Given the description of an element on the screen output the (x, y) to click on. 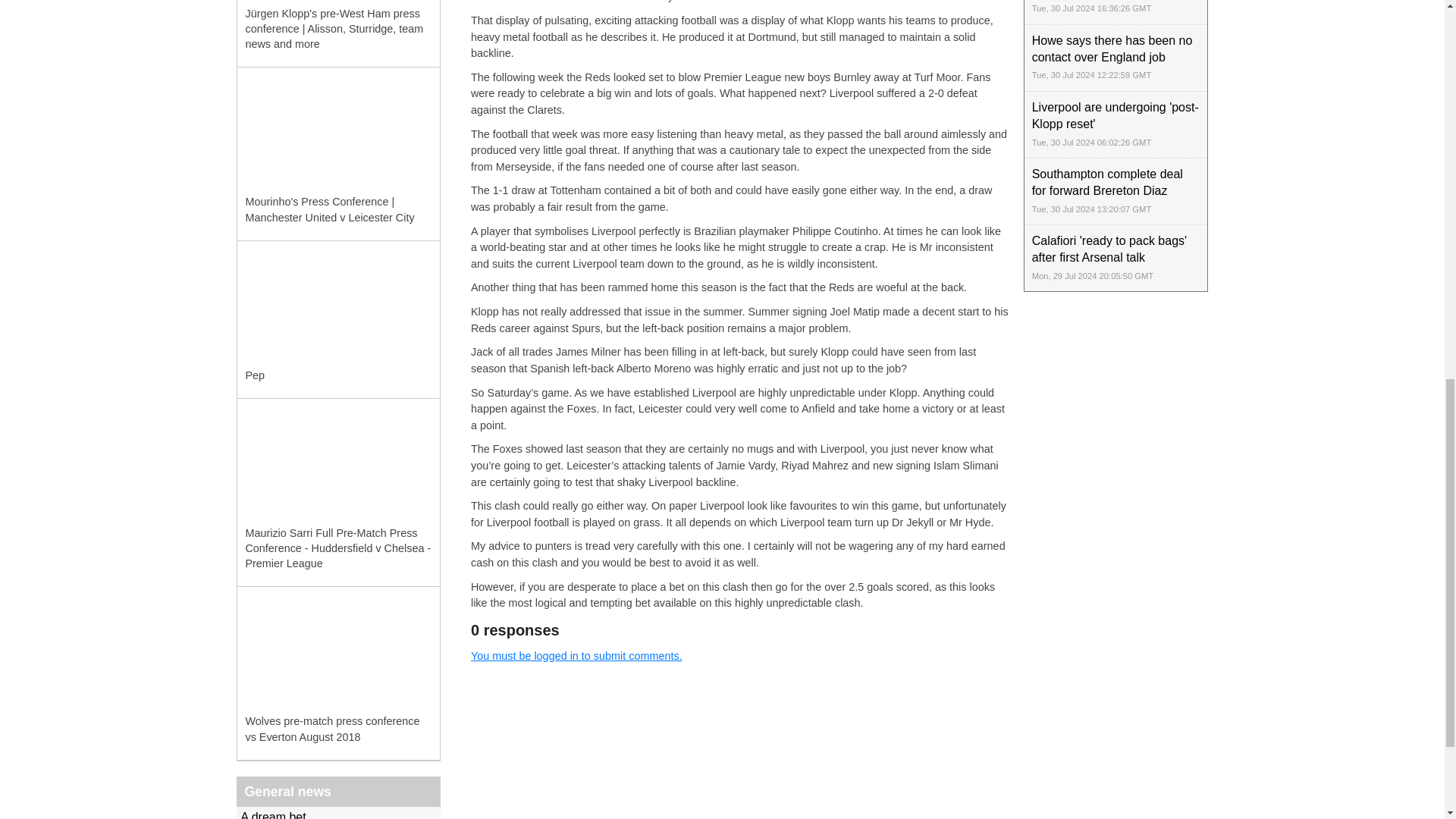
Liverpool are undergoing 'post-Klopp reset'  (1116, 124)
Southampton complete deal for forward Brereton Diaz  (1116, 191)
You must be logged in to submit comments. (576, 655)
Calafiori 'ready to pack bags' after first Arsenal talk (1116, 258)
Everton complete O'Brien signing from Lyon (1116, 11)
A dream bet...... (338, 812)
Howe says there has been no contact over England job (1116, 57)
